Given the description of an element on the screen output the (x, y) to click on. 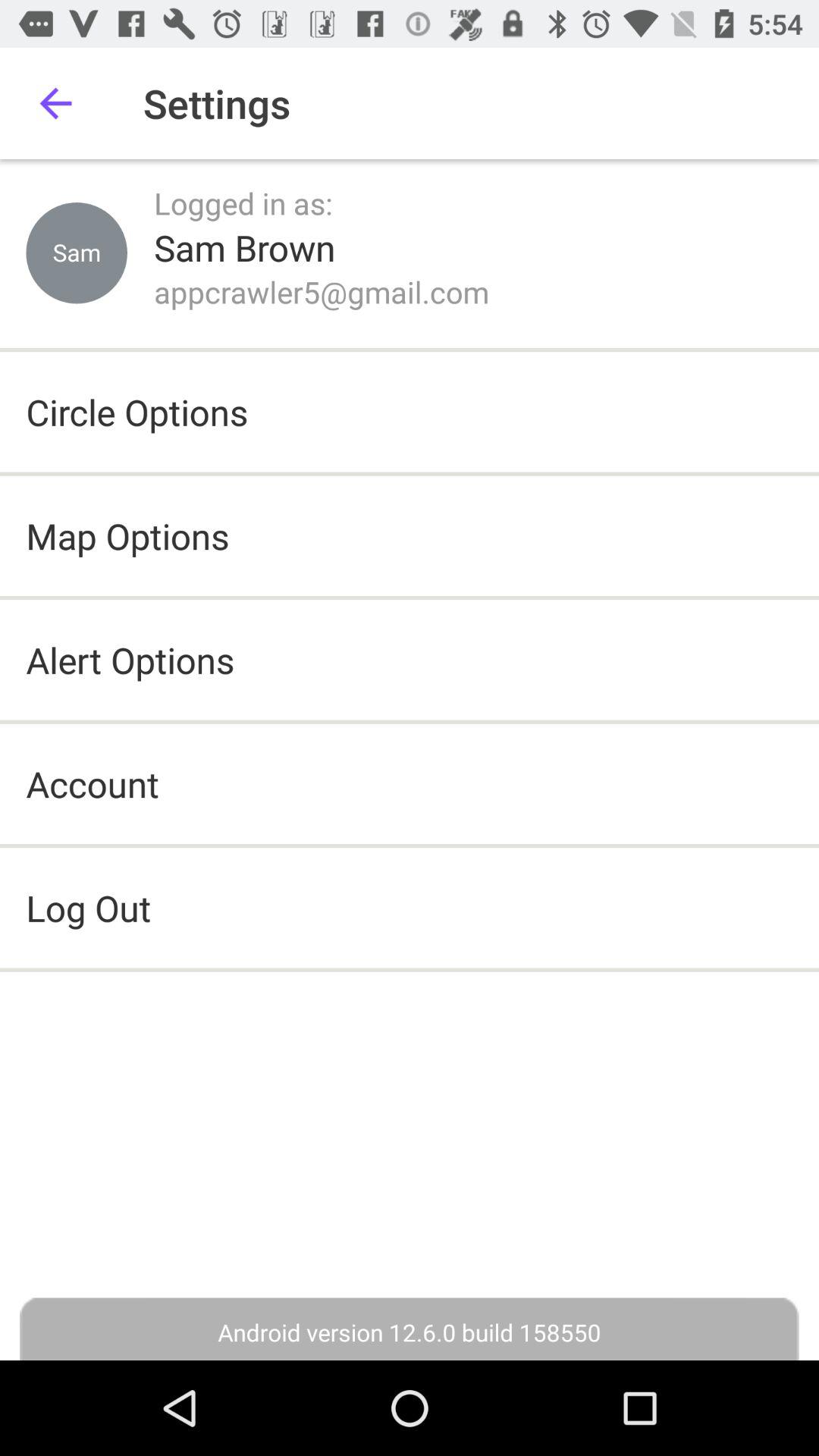
jump to account item (92, 783)
